Given the description of an element on the screen output the (x, y) to click on. 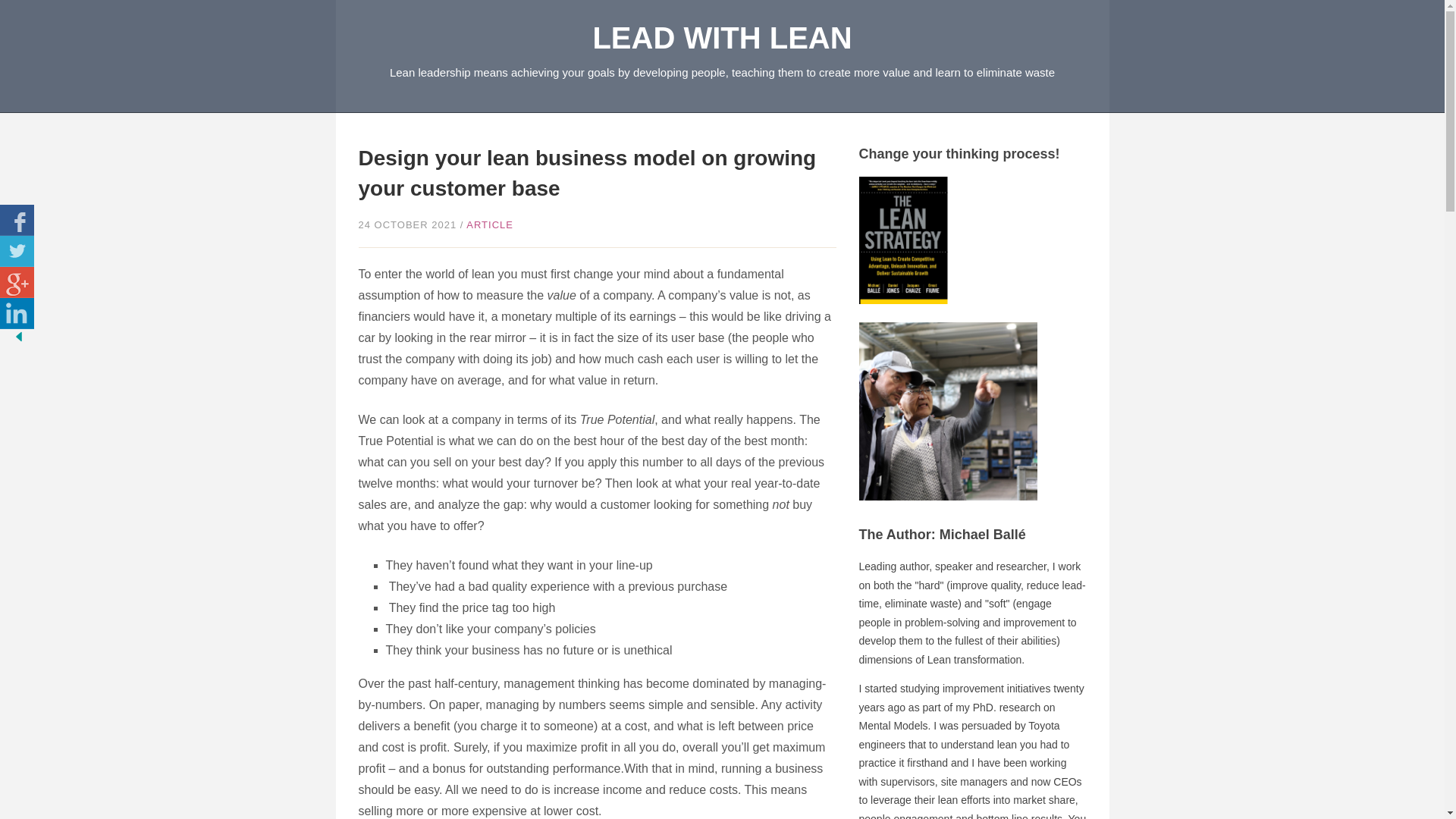
Hide Buttons (18, 336)
LEAD WITH LEAN (721, 37)
ARTICLE (489, 224)
